Given the description of an element on the screen output the (x, y) to click on. 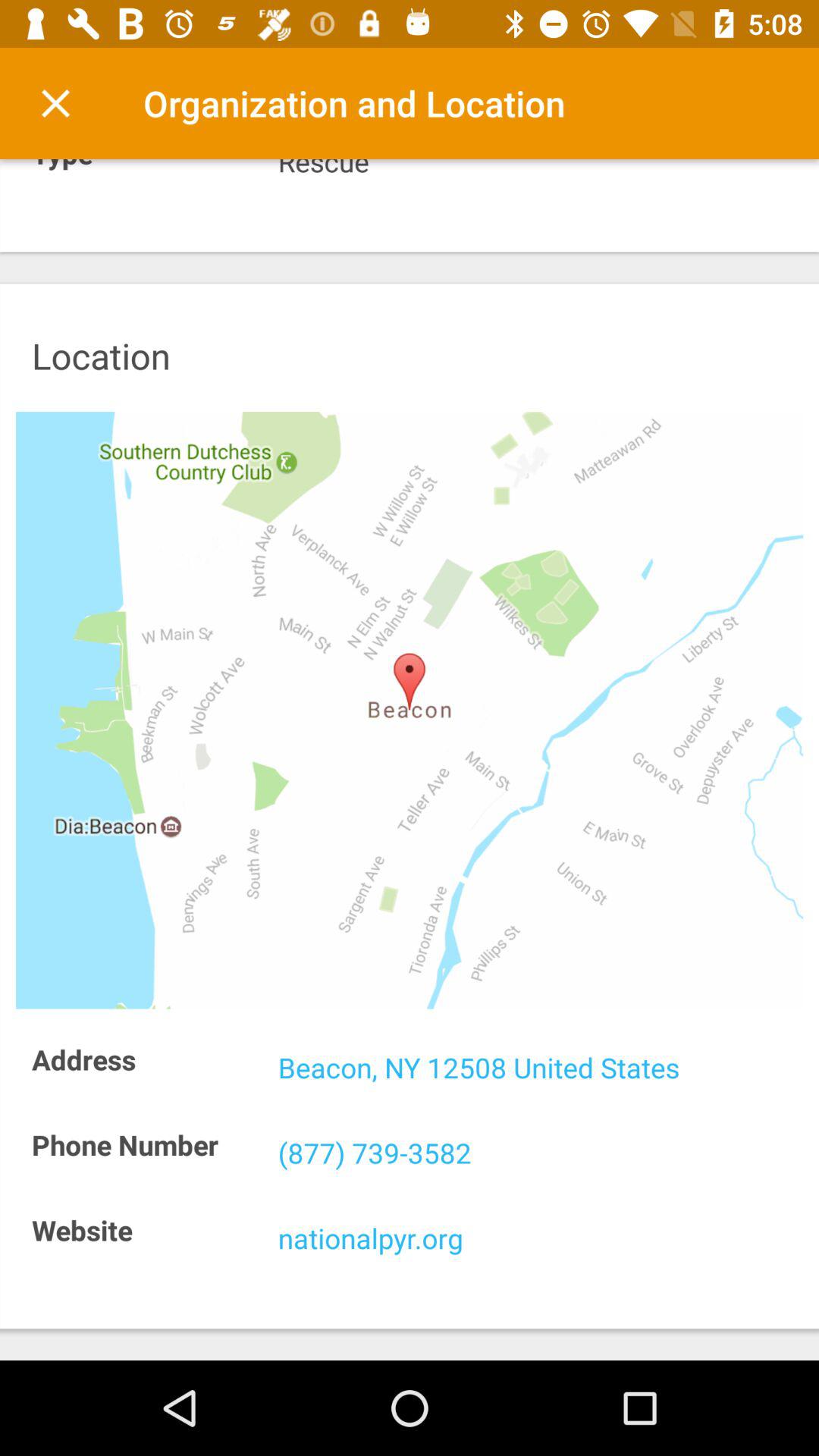
click item above address (409, 709)
